Given the description of an element on the screen output the (x, y) to click on. 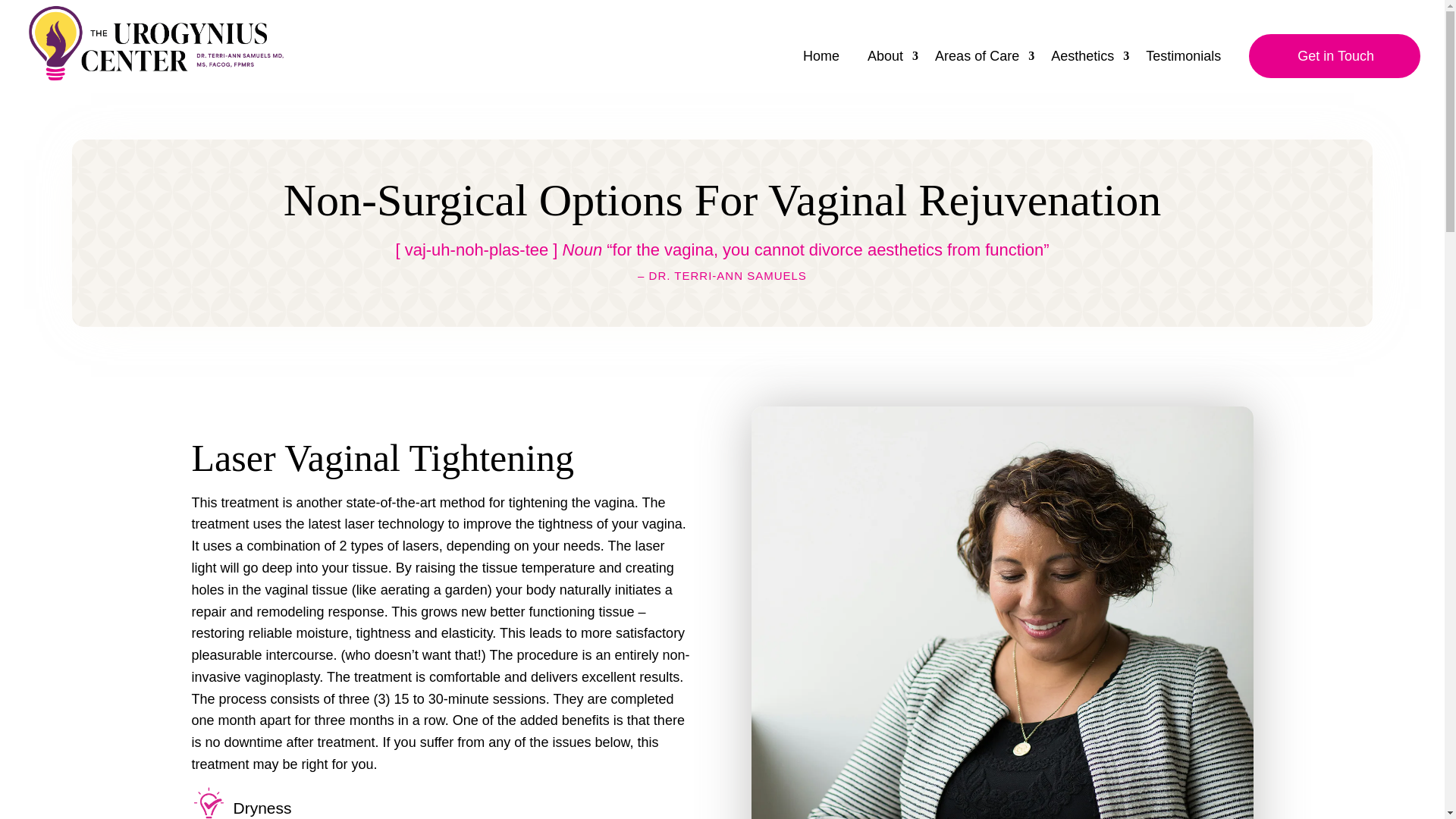
Get in Touch (1335, 55)
Home (826, 68)
Testimonials (1188, 68)
About (892, 68)
Areas of Care (983, 68)
Aesthetics (1090, 68)
